Given the description of an element on the screen output the (x, y) to click on. 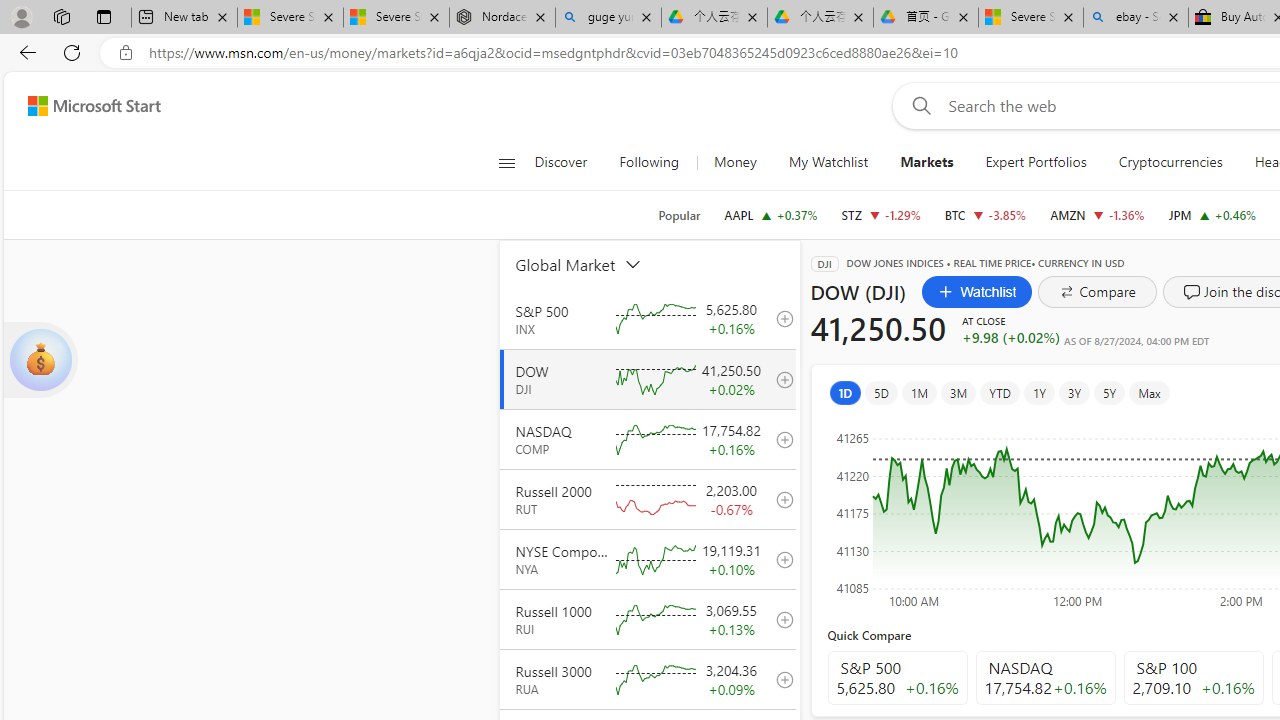
YTD (1000, 392)
show card (40, 359)
Cryptocurrencies (1169, 162)
Max (1148, 392)
1M (919, 392)
